Given the description of an element on the screen output the (x, y) to click on. 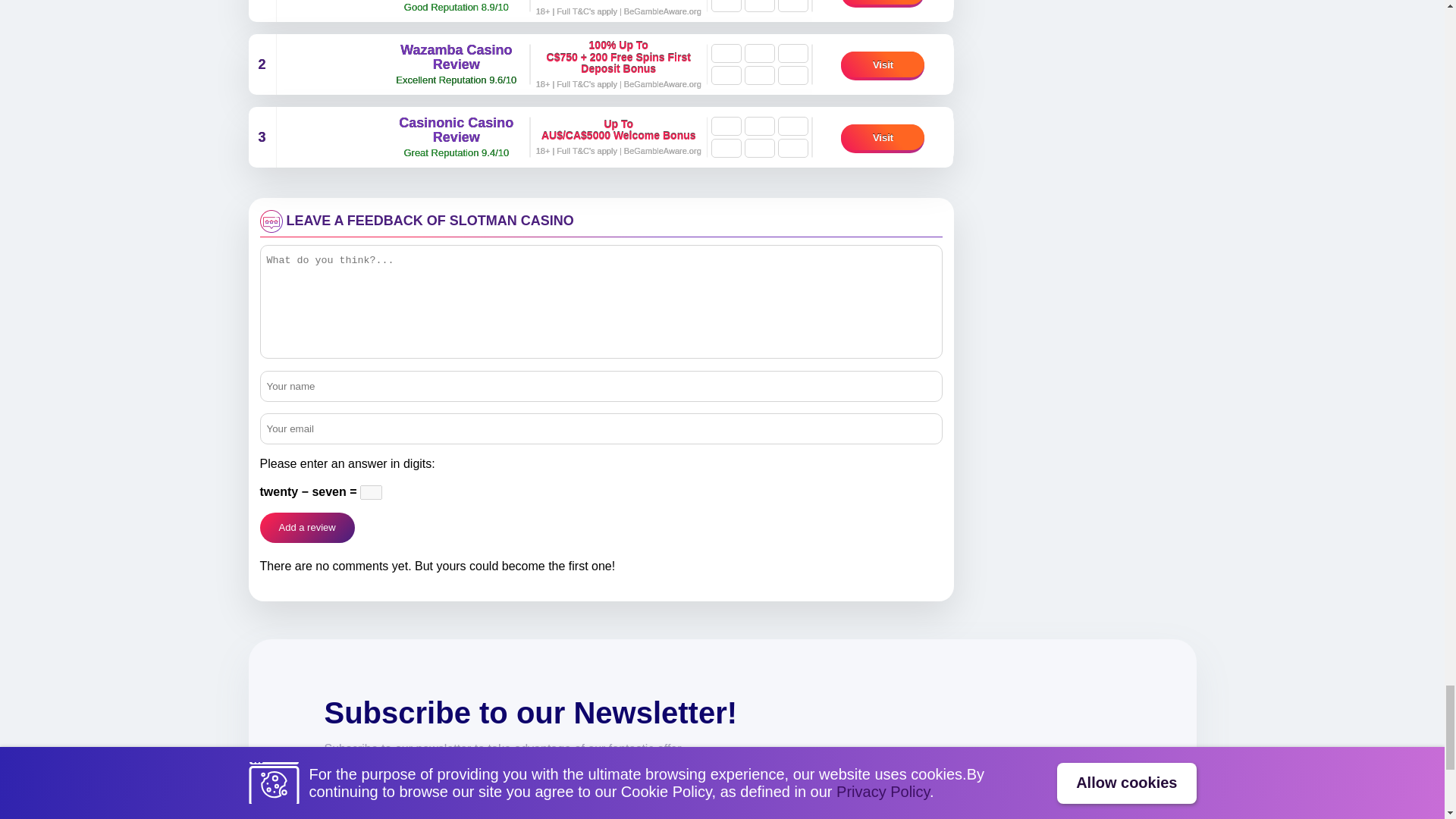
Add a review (306, 527)
